Given the description of an element on the screen output the (x, y) to click on. 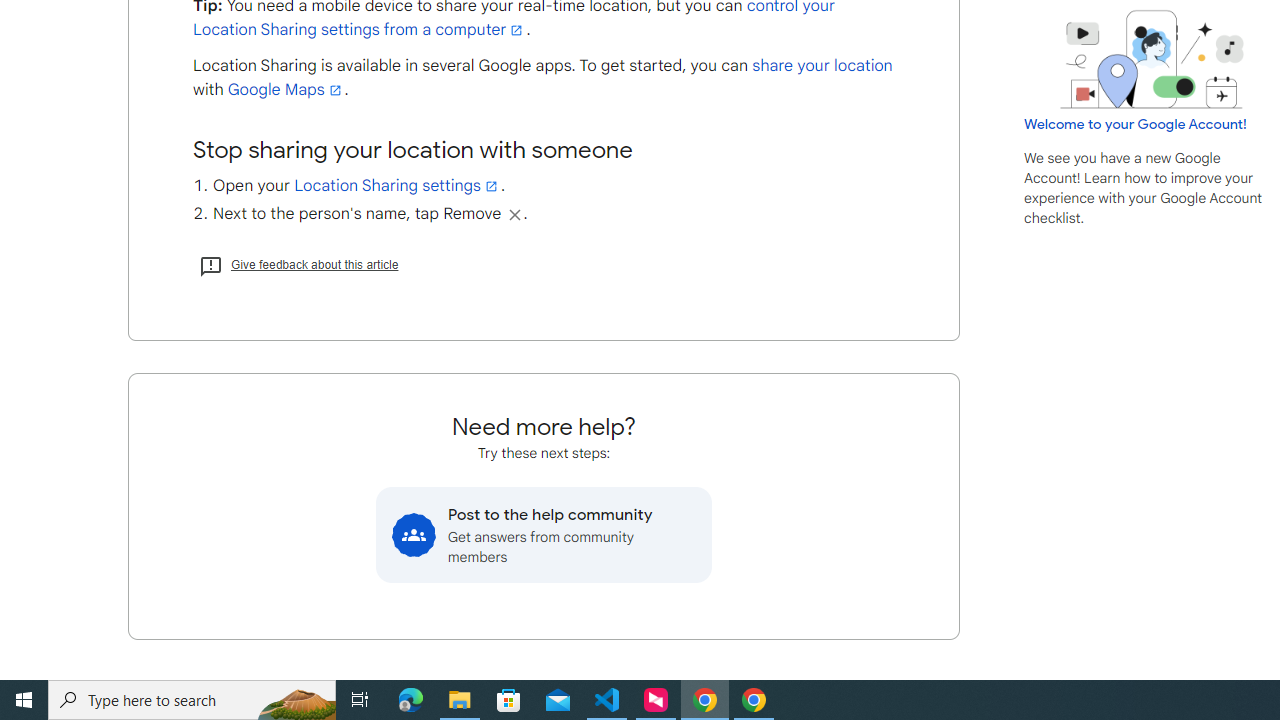
Give feedback about this article (298, 264)
Learning Center home page image (1152, 59)
Google Maps (285, 89)
Welcome to your Google Account! (1135, 124)
